Given the description of an element on the screen output the (x, y) to click on. 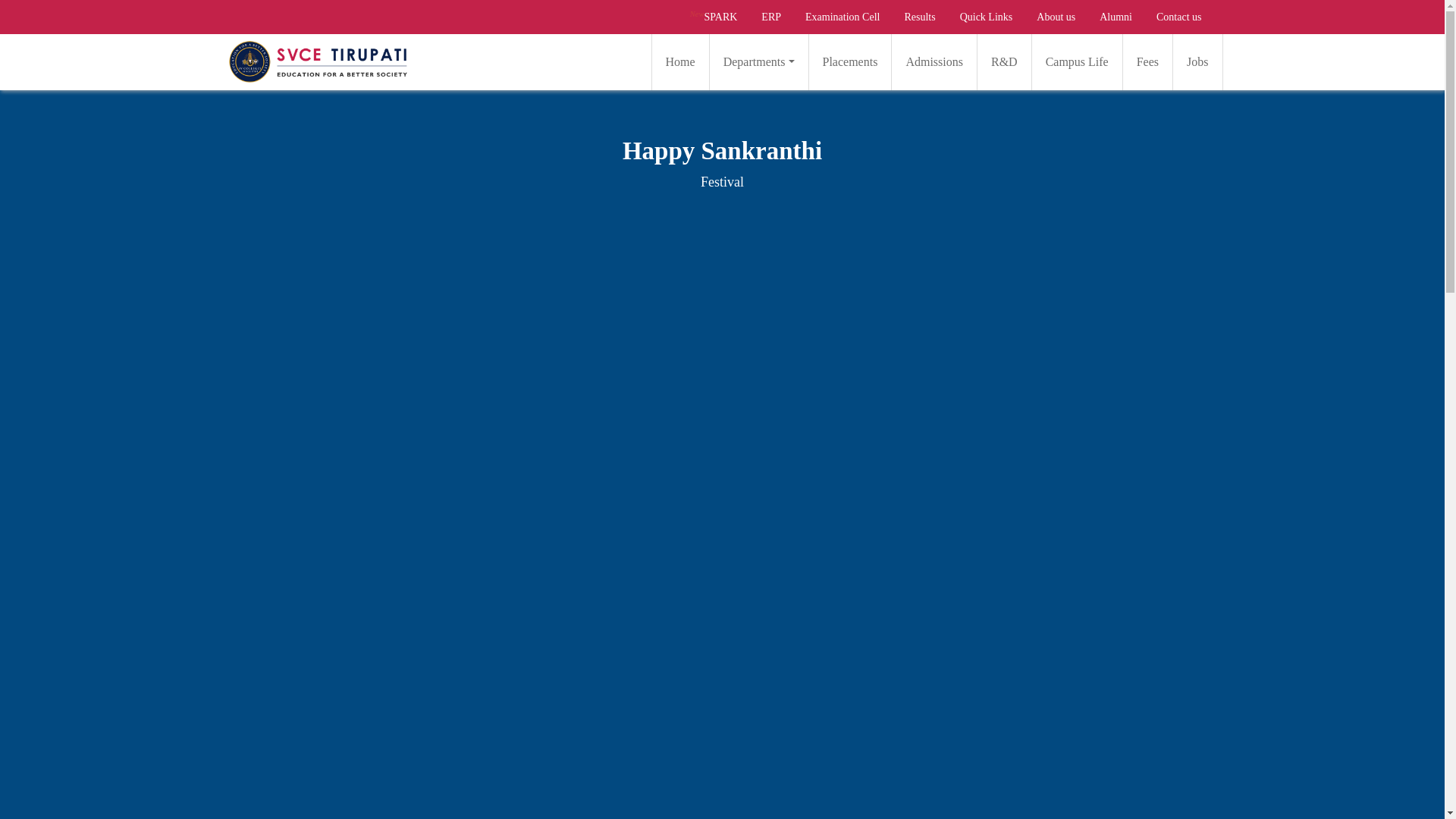
Quick Links (986, 17)
Fees (1147, 61)
Contact us (1179, 17)
Jobs (1197, 61)
Campus Life (1076, 61)
Examination Cell (842, 17)
Alumni (1115, 17)
Home (680, 61)
About us (1056, 17)
Admissions (933, 61)
